Given the description of an element on the screen output the (x, y) to click on. 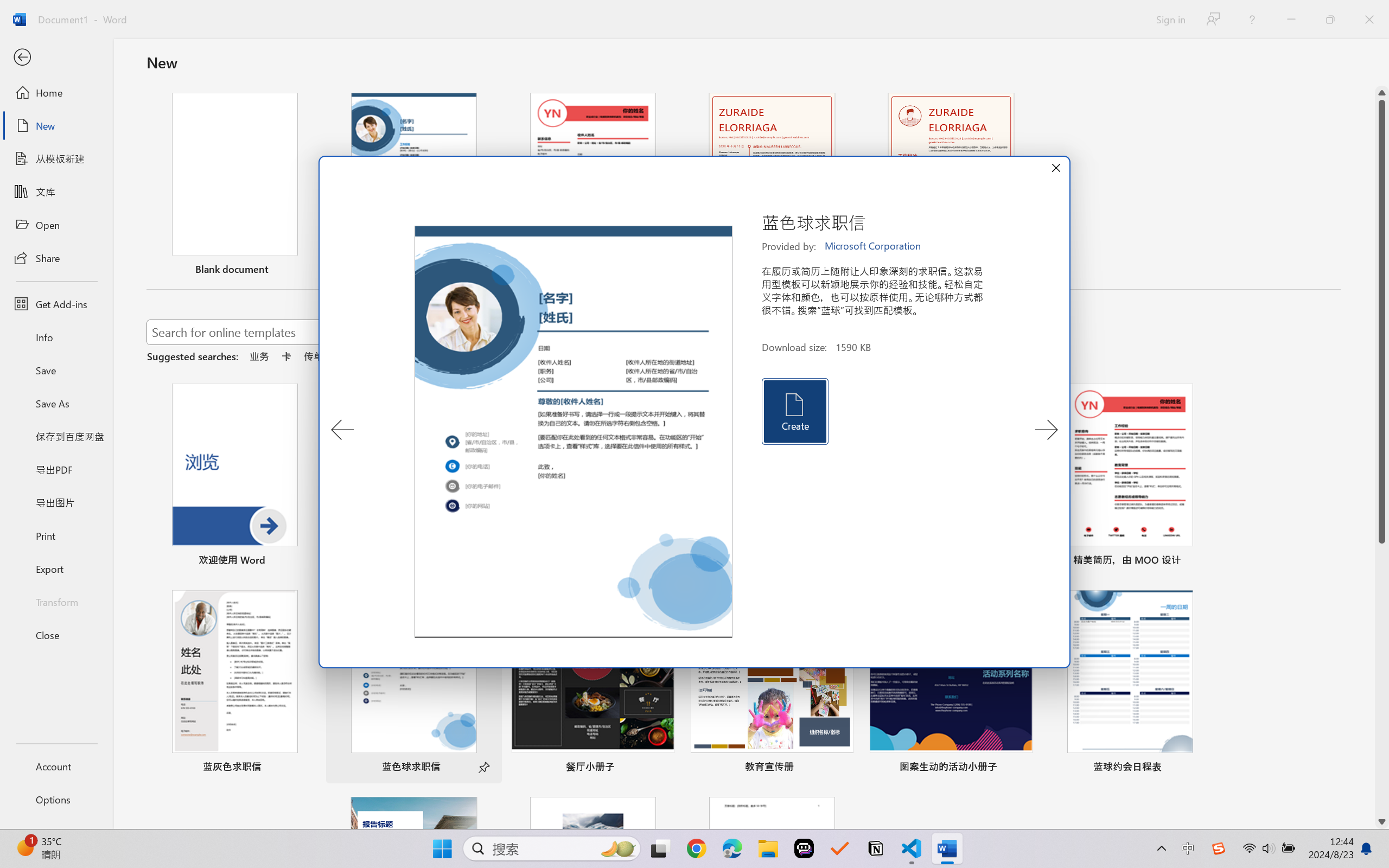
Back (56, 57)
Microsoft Edge (731, 848)
Line up (1382, 92)
Preview (573, 431)
